Given the description of an element on the screen output the (x, y) to click on. 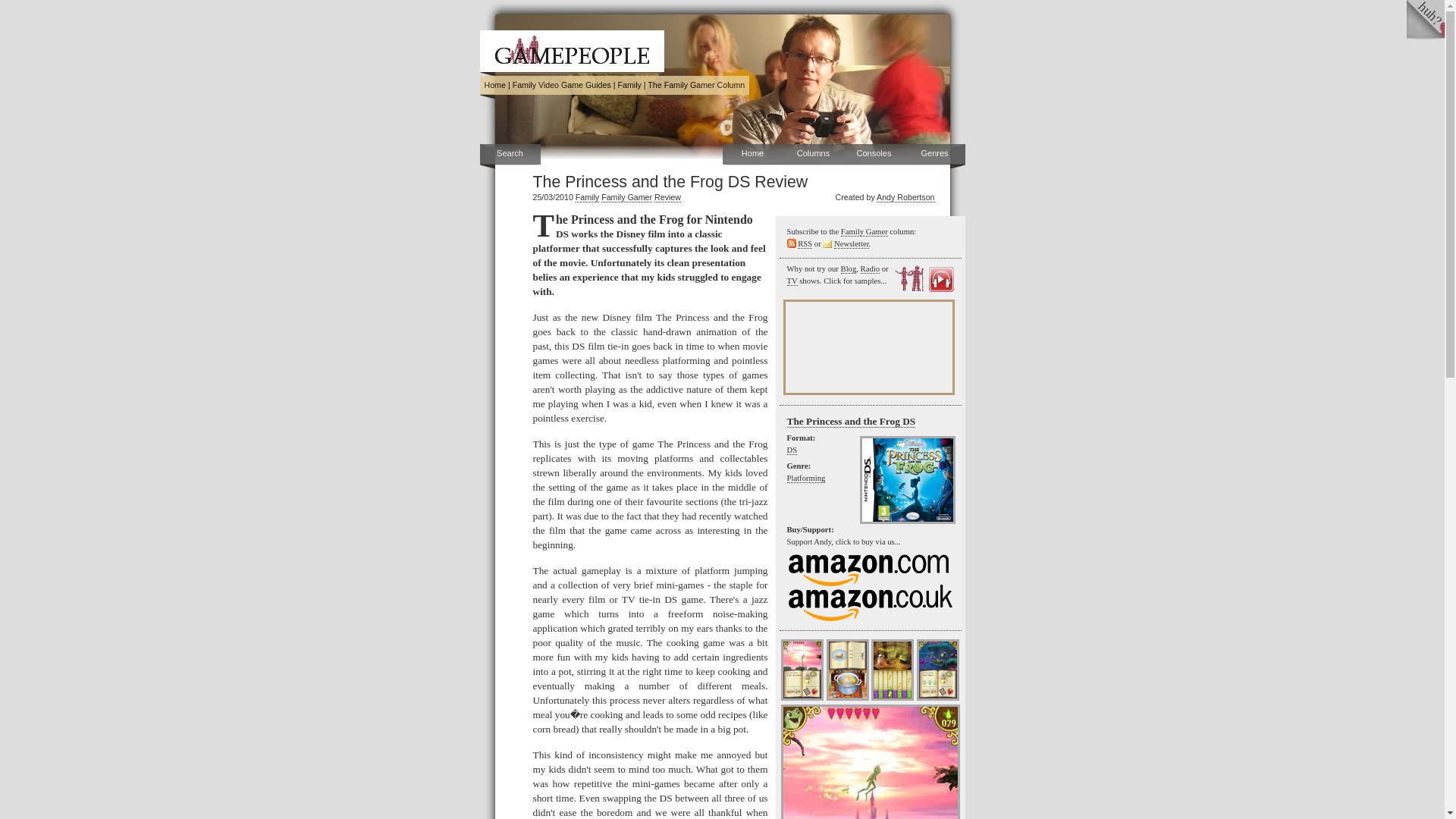
Column (695, 84)
Home (752, 154)
Review (667, 197)
The Family Gamer Column (695, 84)
Family Video Game Guides (561, 84)
Home (494, 84)
Search (509, 154)
Family Gamer (626, 197)
Family (586, 197)
Home (494, 84)
Breadcrumb Trail (614, 85)
Andy Robertson (905, 197)
Family (628, 84)
Columns (813, 154)
Group (628, 84)
